Given the description of an element on the screen output the (x, y) to click on. 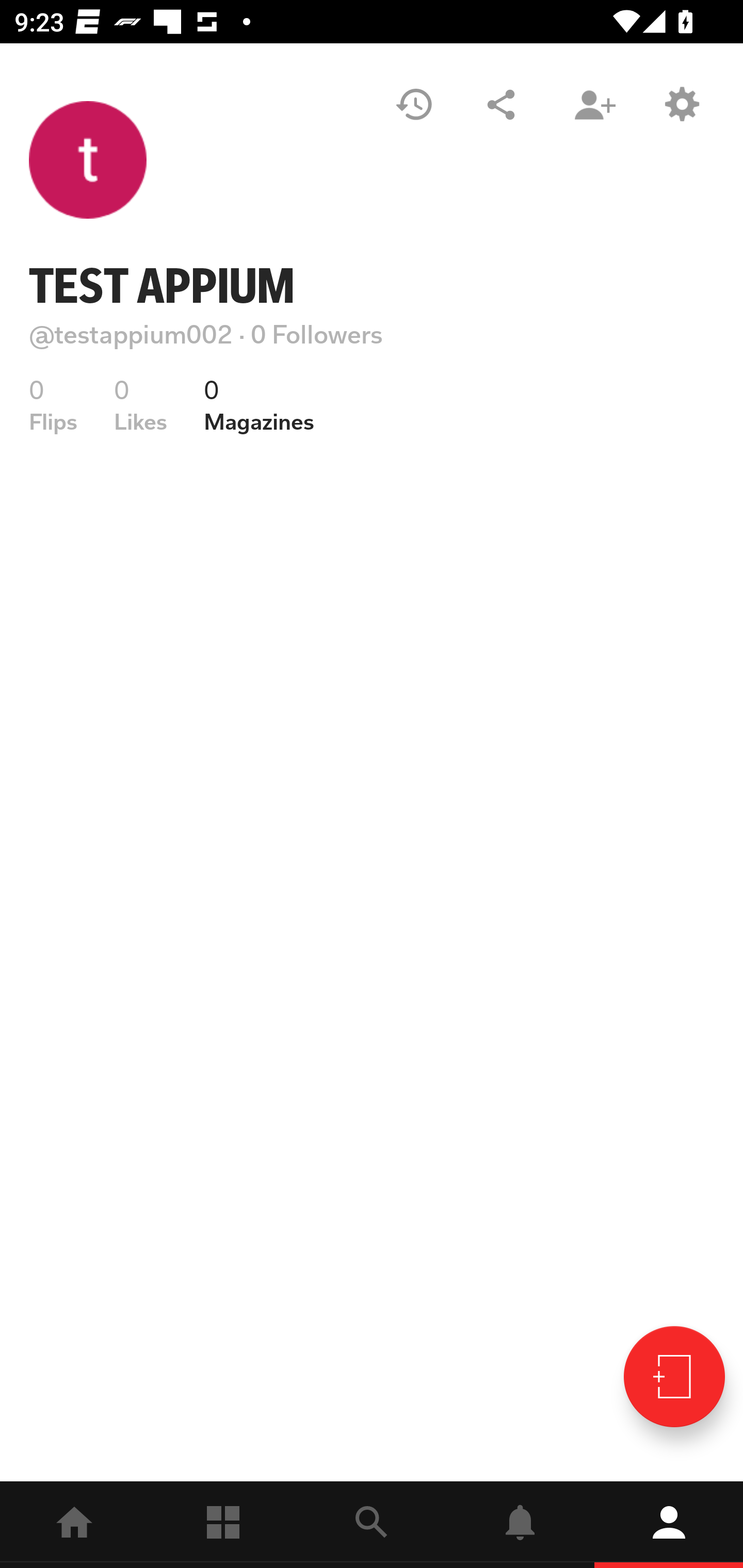
Share (500, 104)
Find Friends (594, 104)
Settings (681, 104)
TEST APPIUM (161, 286)
@testappium002 (130, 334)
0 Followers (317, 334)
0 Flips (53, 405)
0 Likes (140, 405)
0 Magazines (258, 405)
home (74, 1524)
Following (222, 1524)
explore (371, 1524)
Notifications (519, 1524)
Profile (668, 1524)
